Given the description of an element on the screen output the (x, y) to click on. 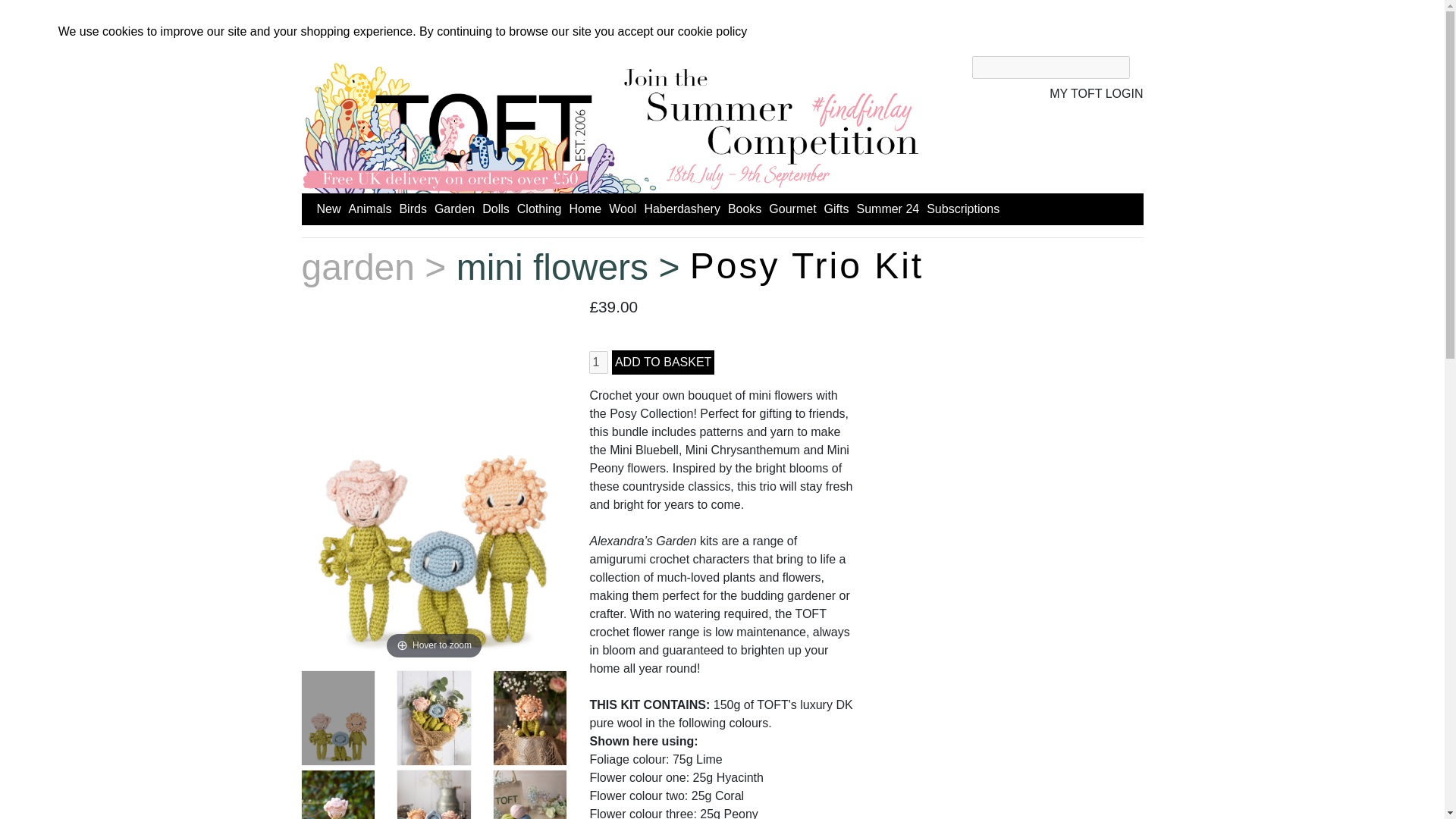
Animals (370, 208)
Add to Basket (662, 362)
Garden (453, 208)
animals  (370, 208)
MY TOFT LOGIN (1095, 92)
cookie policy (713, 31)
1 (598, 362)
birds (412, 208)
Birds (412, 208)
New (328, 208)
new (328, 208)
